Given the description of an element on the screen output the (x, y) to click on. 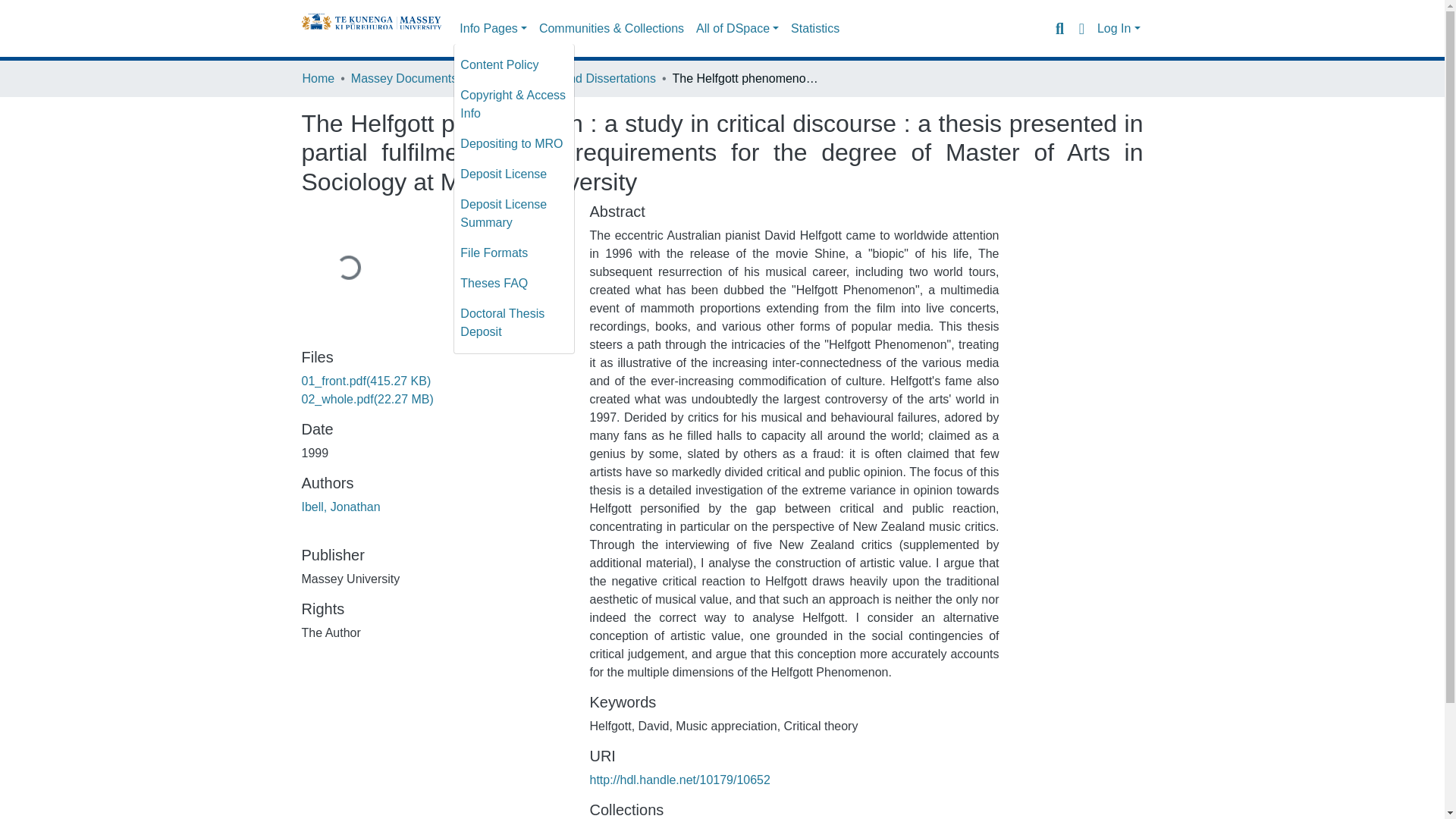
Depositing to MRO (513, 143)
Theses and Dissertations (587, 78)
Deposit License Summary (513, 213)
Language switch (1081, 28)
Search (1058, 28)
Doctoral Thesis Deposit (513, 322)
Ibell, Jonathan (340, 506)
Content Policy (513, 64)
Theses FAQ (513, 283)
Statistics (814, 28)
